Given the description of an element on the screen output the (x, y) to click on. 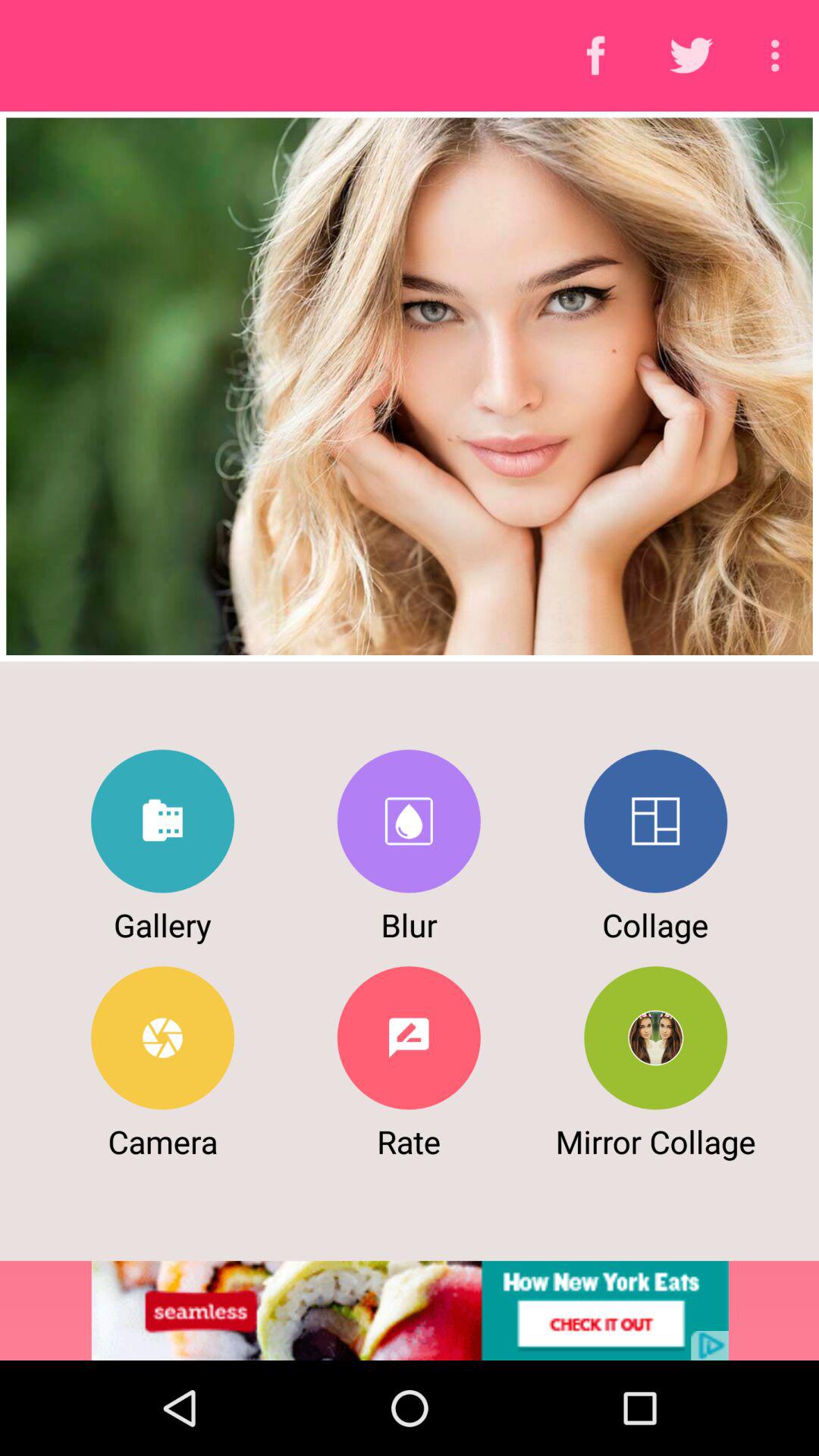
mirror collage image (655, 1037)
